Given the description of an element on the screen output the (x, y) to click on. 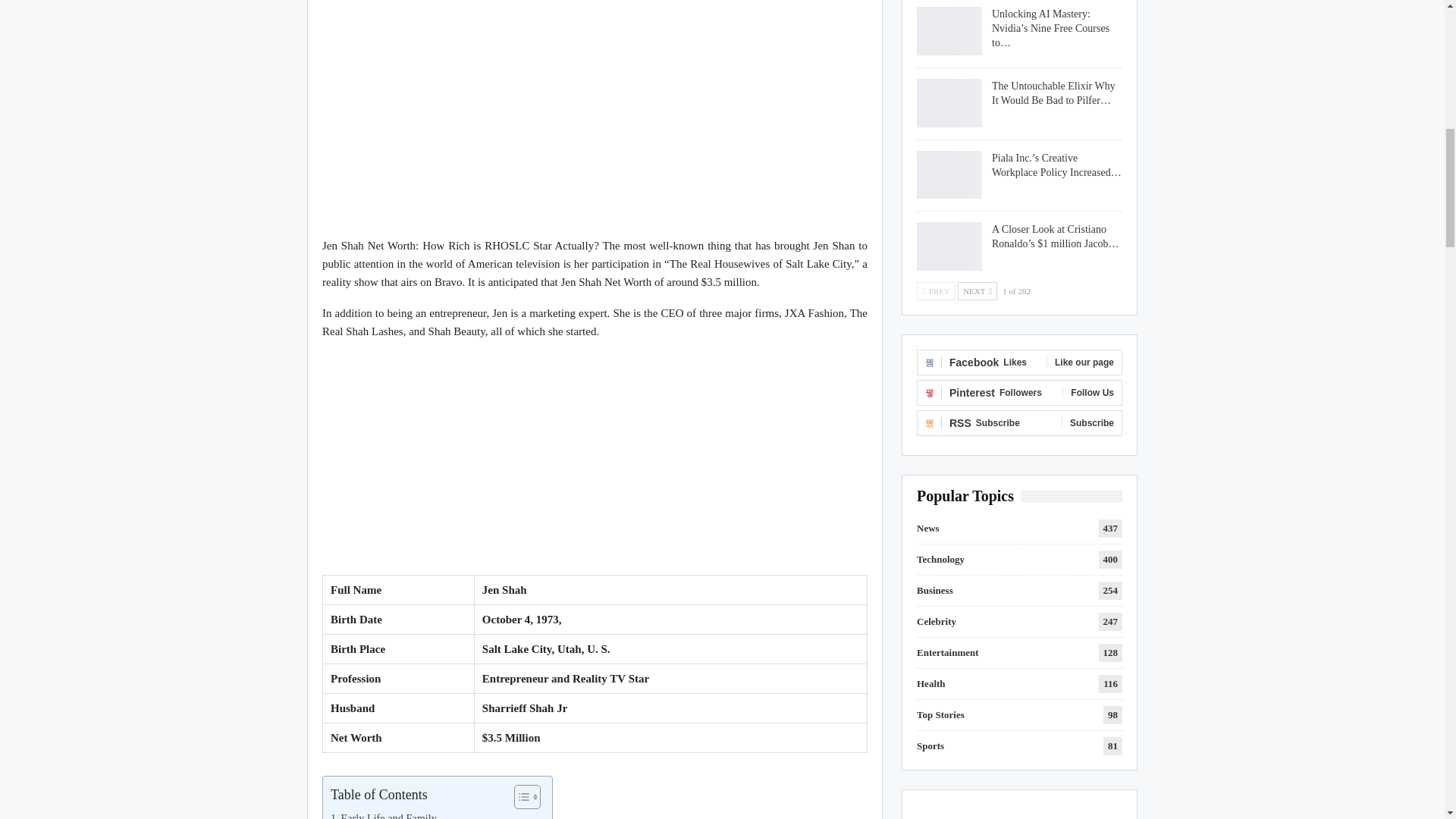
Advertisement (594, 458)
Early Life and Family (383, 814)
Early Life and Family (383, 814)
Advertisement (594, 121)
